Given the description of an element on the screen output the (x, y) to click on. 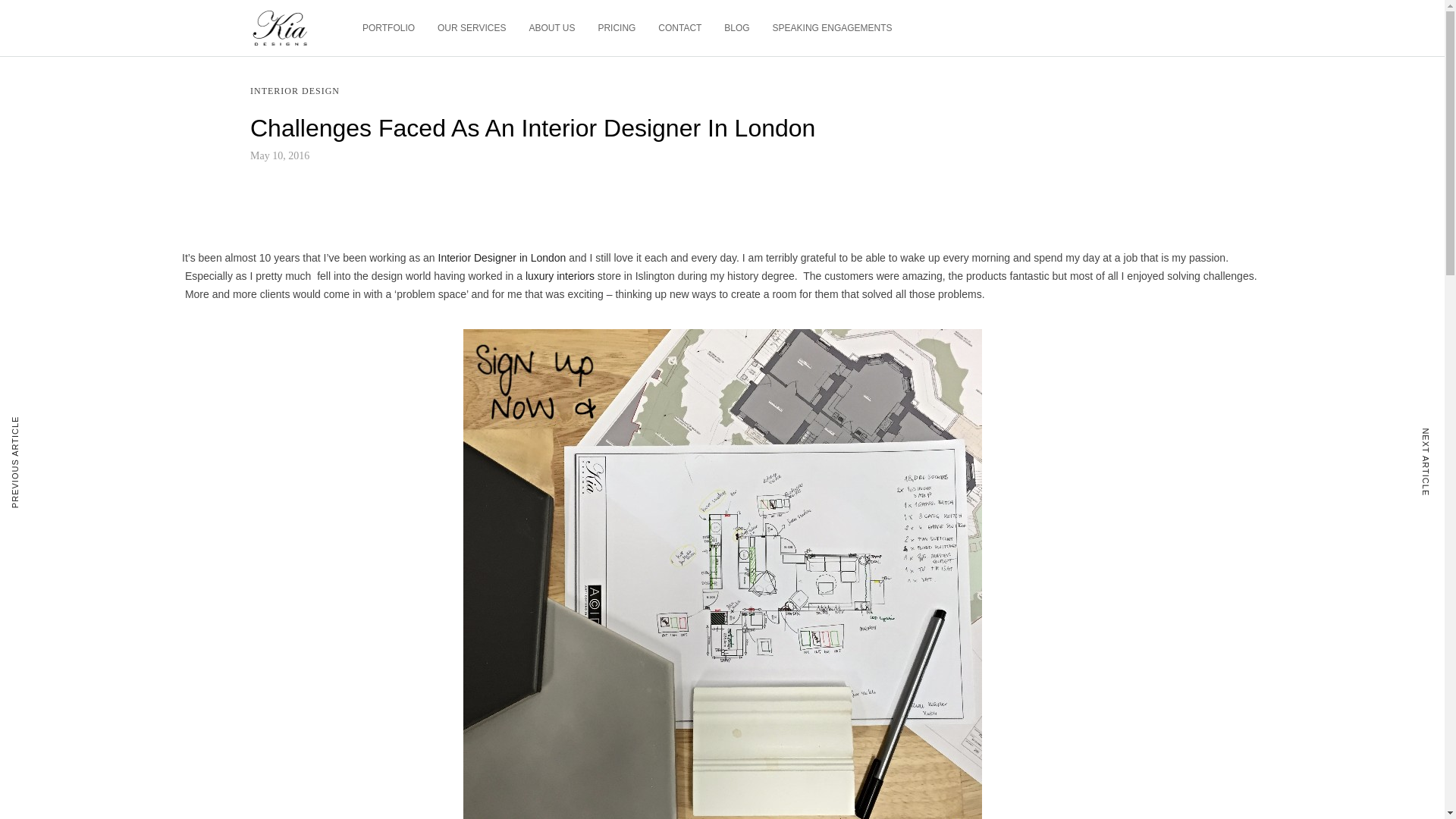
PORTFOLIO (388, 28)
SPEAKING ENGAGEMENTS (832, 28)
Instagram (829, 673)
Pinterest (826, 709)
ABOUT US (551, 28)
OUR SERVICES (471, 28)
Portfolio (316, 594)
Pricing (313, 630)
Tiktok (820, 691)
PRICING (615, 28)
CONTACT (679, 28)
Subscribe to our Newsletter (844, 607)
LinkedIn (825, 727)
Speaking Engagements (353, 684)
Houzz (820, 654)
